Given the description of an element on the screen output the (x, y) to click on. 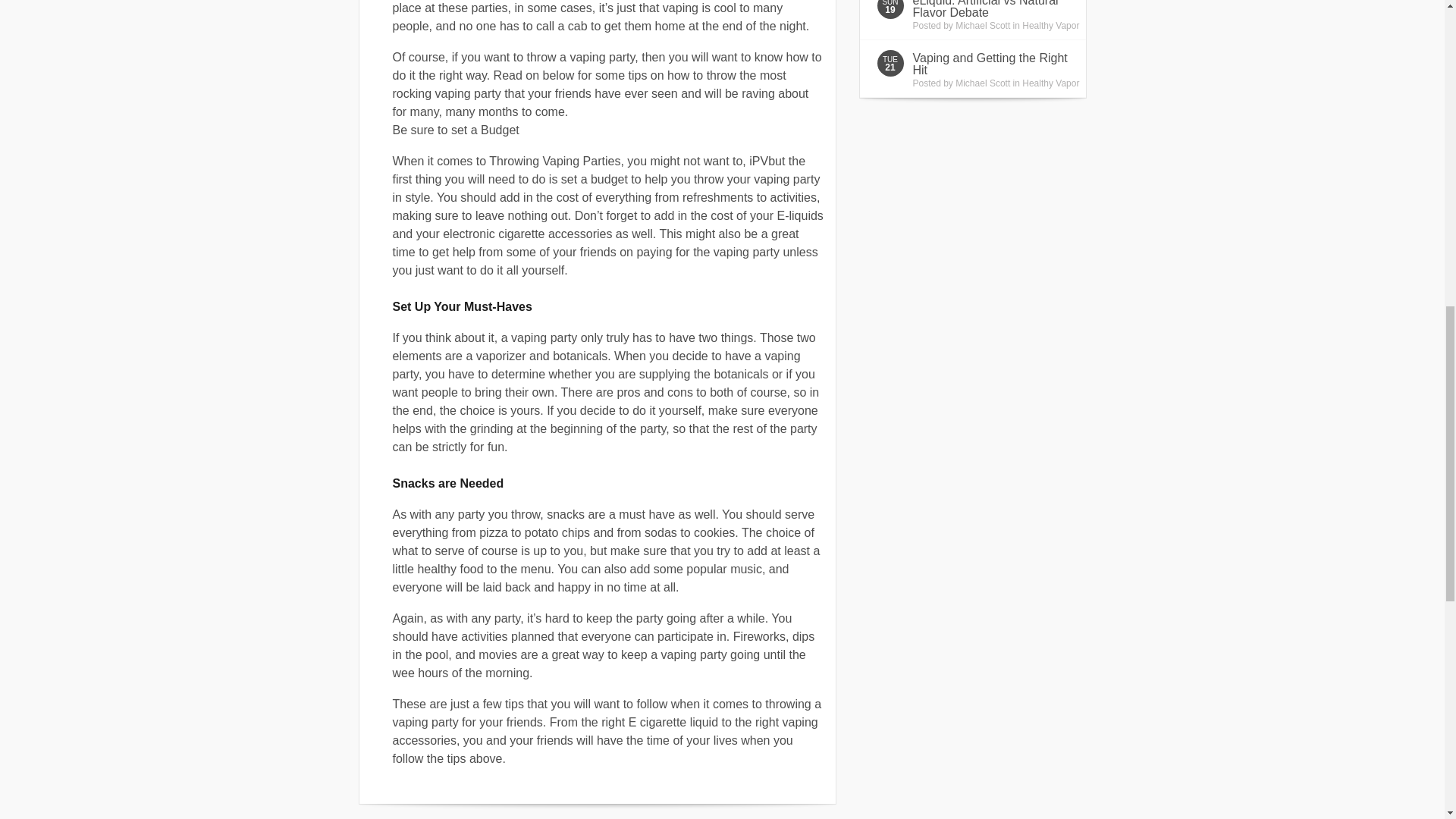
Posts by Michael Scott (982, 25)
Posts by Michael Scott (982, 82)
